Given the description of an element on the screen output the (x, y) to click on. 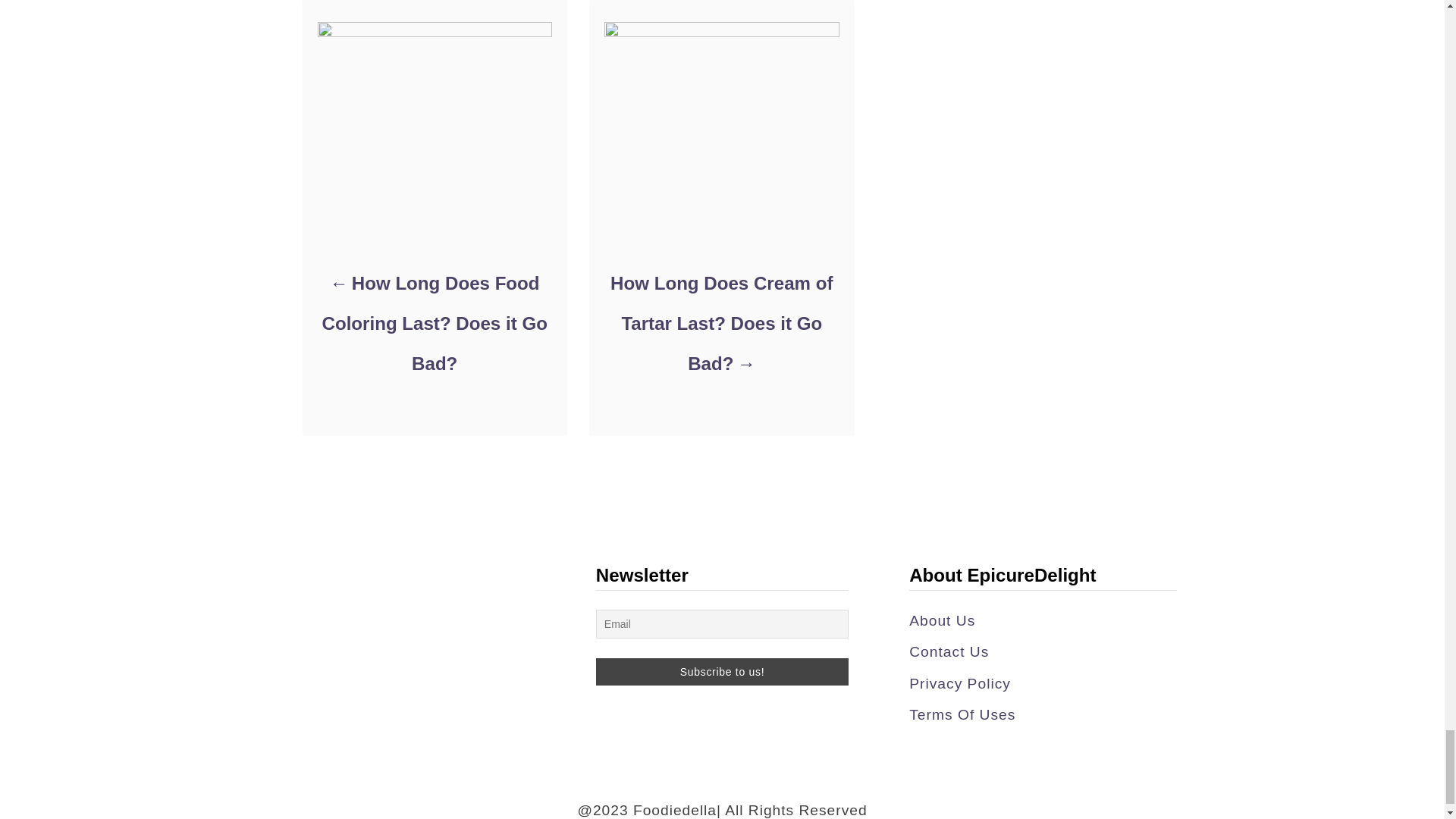
Subscribe to us! (721, 671)
